Given the description of an element on the screen output the (x, y) to click on. 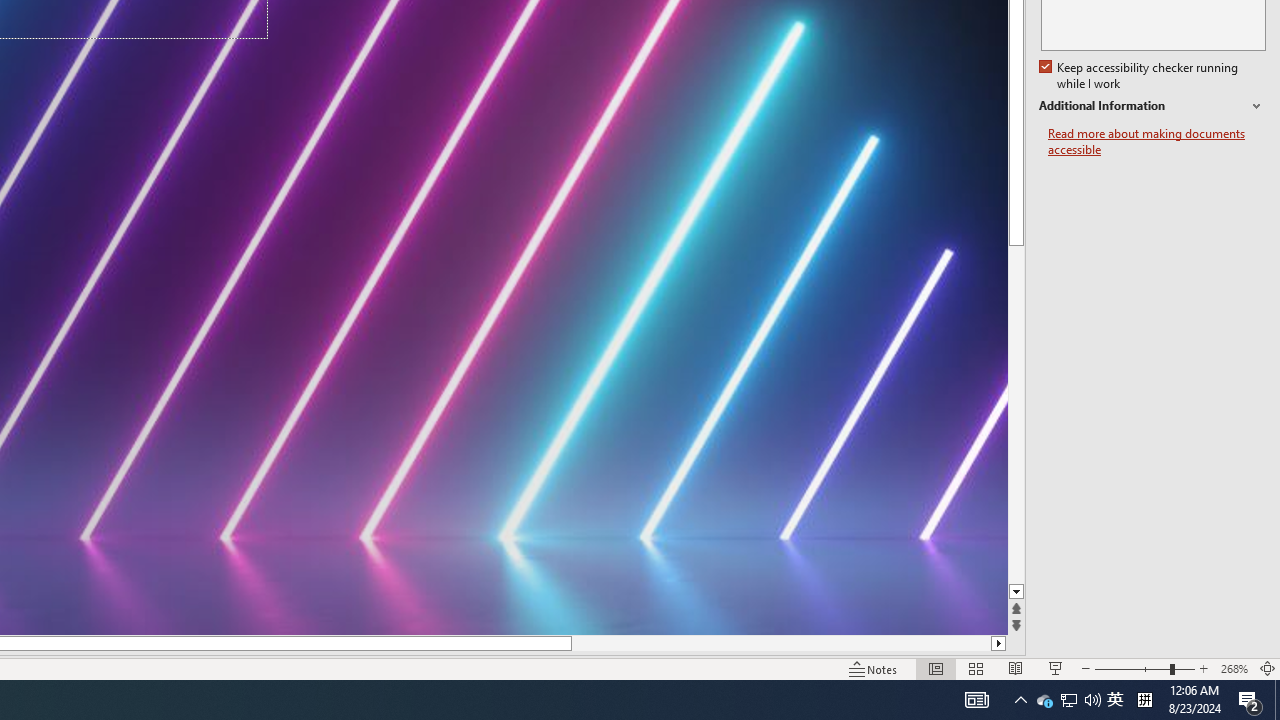
Zoom 268% (1234, 668)
